Given the description of an element on the screen output the (x, y) to click on. 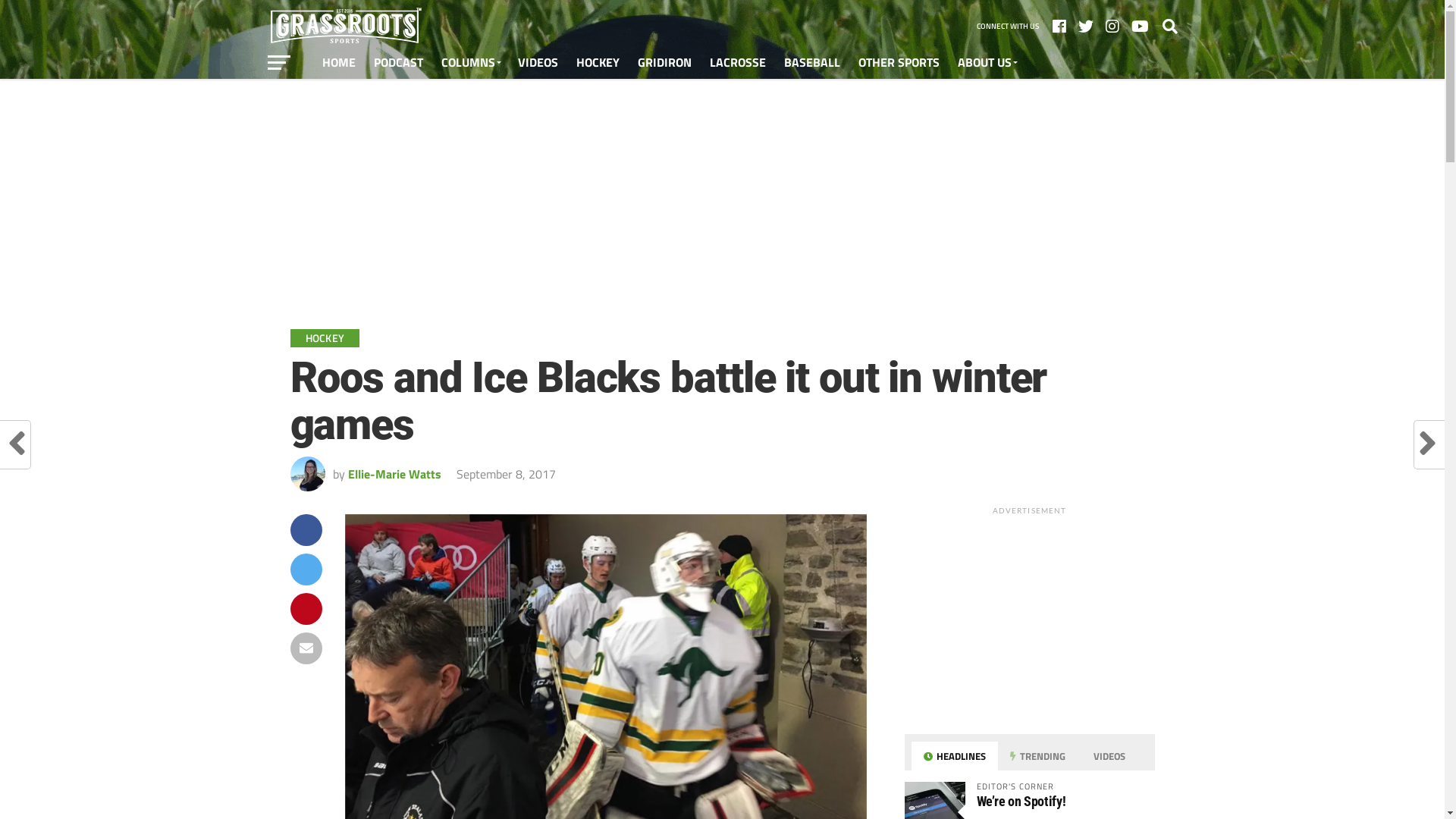
Ellie-Marie Watts Element type: text (393, 473)
LACROSSE Element type: text (737, 61)
COLUMNS Element type: text (470, 61)
OTHER SPORTS Element type: text (898, 61)
TRENDING Element type: text (1037, 755)
VIDEOS Element type: text (537, 61)
ABOUT US Element type: text (985, 61)
HEADLINES Element type: text (954, 755)
Advertisement Element type: hover (1029, 616)
HOCKEY Element type: text (597, 61)
HOME Element type: text (338, 61)
GRIDIRON Element type: text (663, 61)
PODCAST Element type: text (397, 61)
Advertisement Element type: hover (721, 188)
BASEBALL Element type: text (812, 61)
VIDEOS Element type: text (1107, 755)
